Given the description of an element on the screen output the (x, y) to click on. 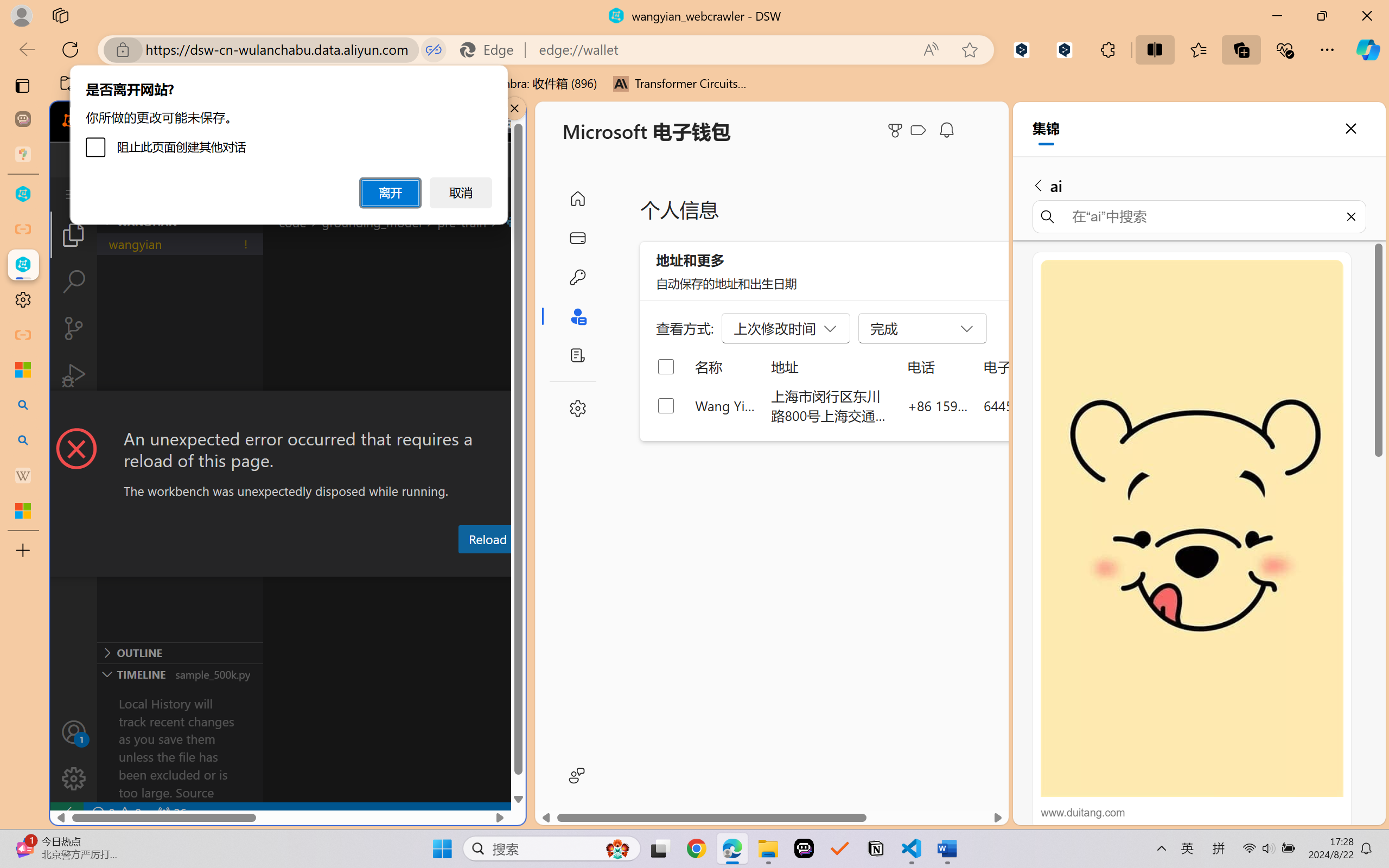
Transformer Circuits Thread (680, 83)
Microsoft security help and learning (22, 369)
Accounts - Sign in requested (73, 732)
Wang Yian (725, 405)
